Given the description of an element on the screen output the (x, y) to click on. 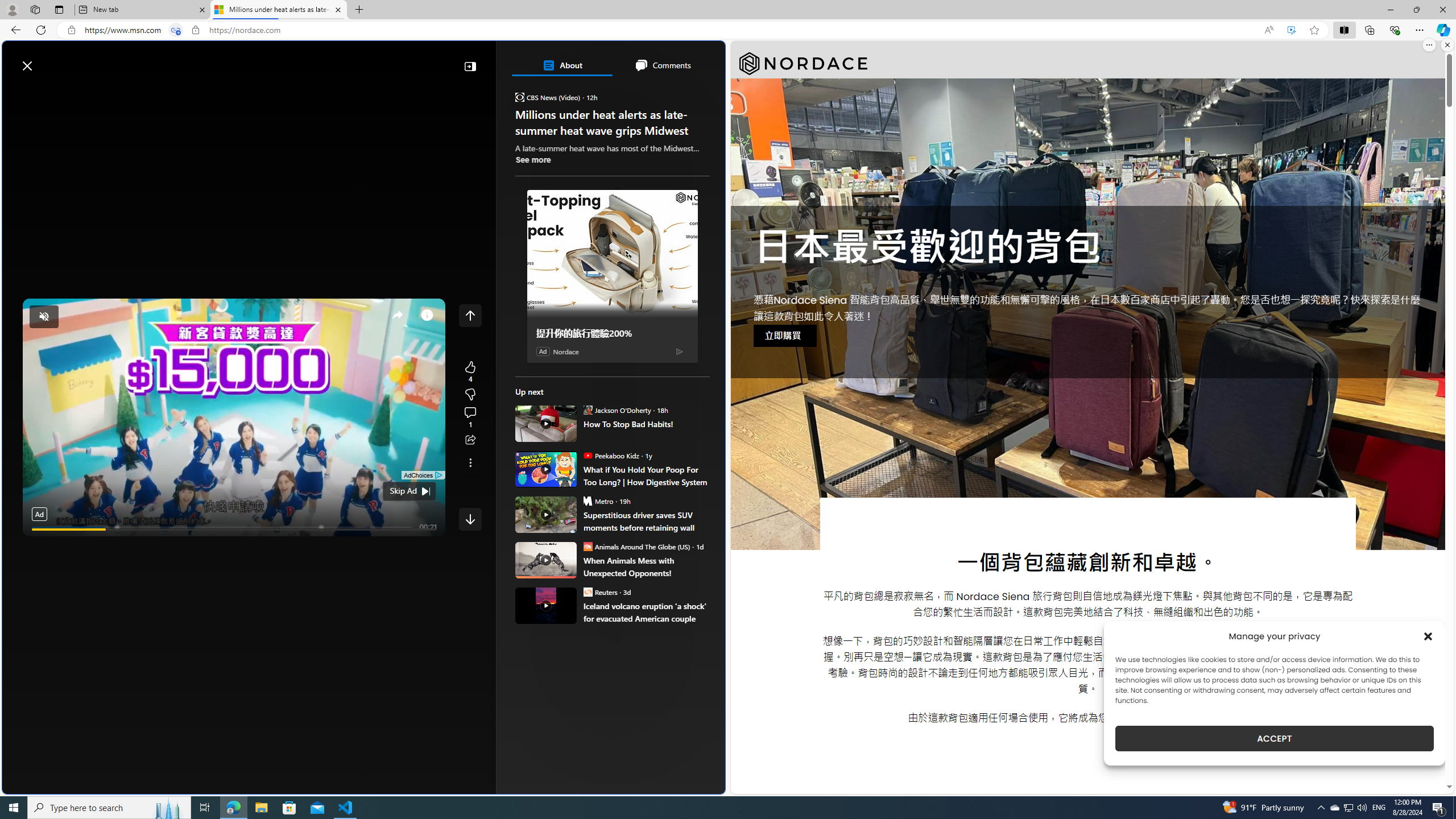
ACCEPT (1274, 738)
Reuters (587, 591)
ABC News (554, 415)
Class: control icon-only (469, 315)
Enhance video (1291, 29)
Web search (161, 60)
Class: cmplz-close (1428, 636)
